Given the description of an element on the screen output the (x, y) to click on. 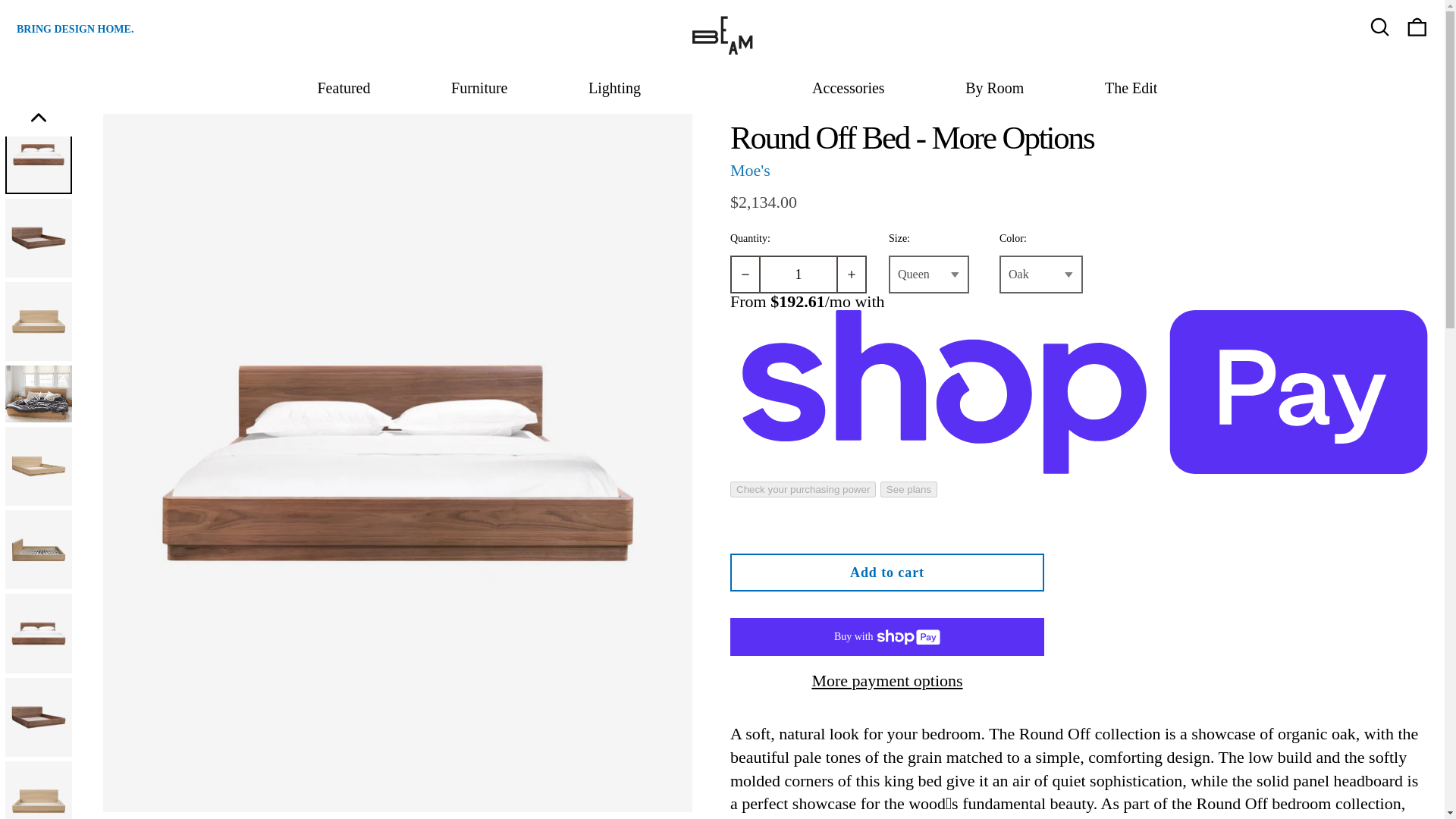
Moe's (750, 169)
1 (797, 274)
